Given the description of an element on the screen output the (x, y) to click on. 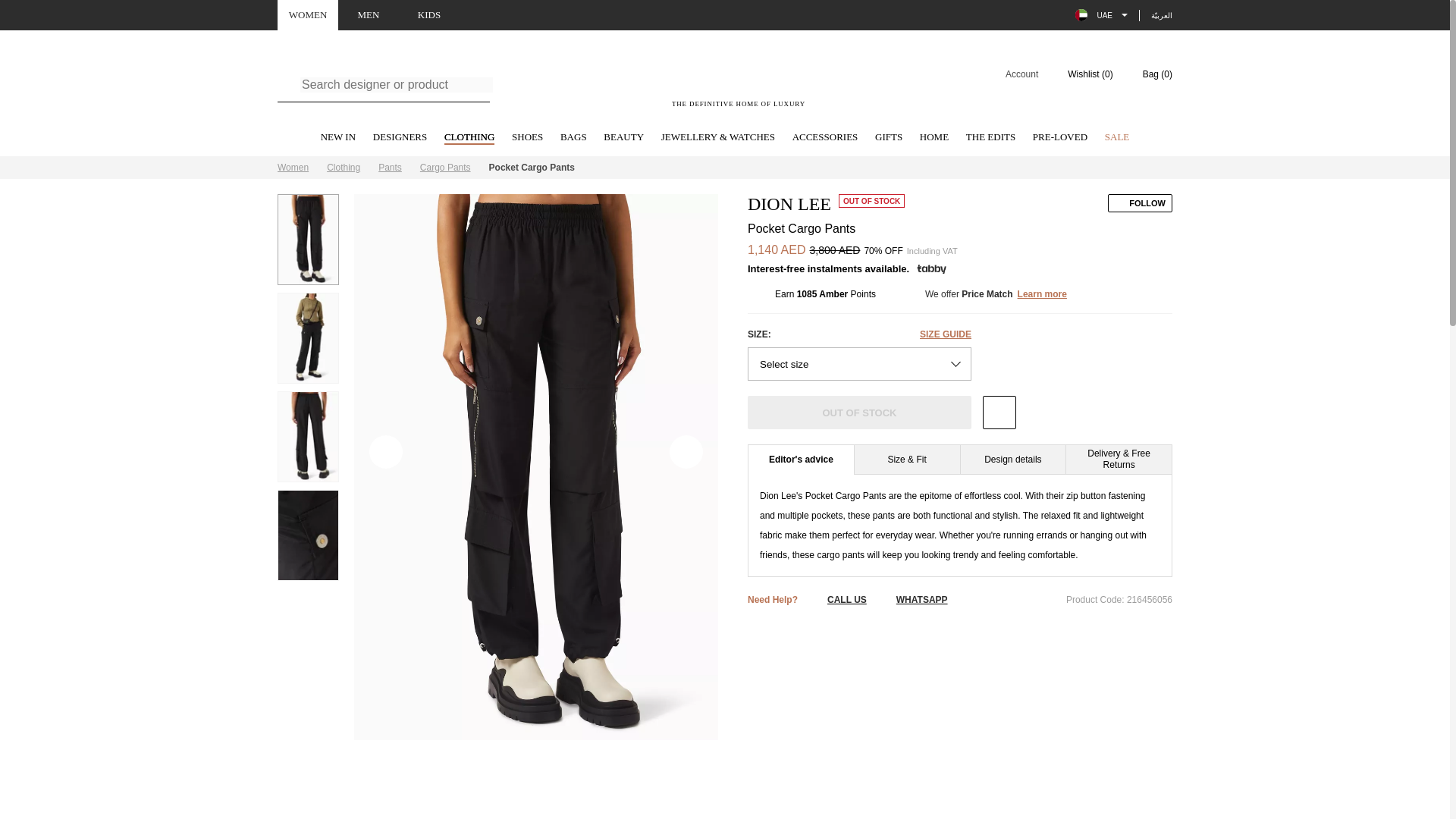
DESIGNERS (400, 137)
Account (1012, 73)
ACCESSORIES (825, 137)
UAE (1101, 15)
KIDS (429, 15)
Clothing (342, 167)
SALE (1117, 137)
Women (293, 167)
BEAUTY (623, 137)
NEW IN (337, 137)
